Given the description of an element on the screen output the (x, y) to click on. 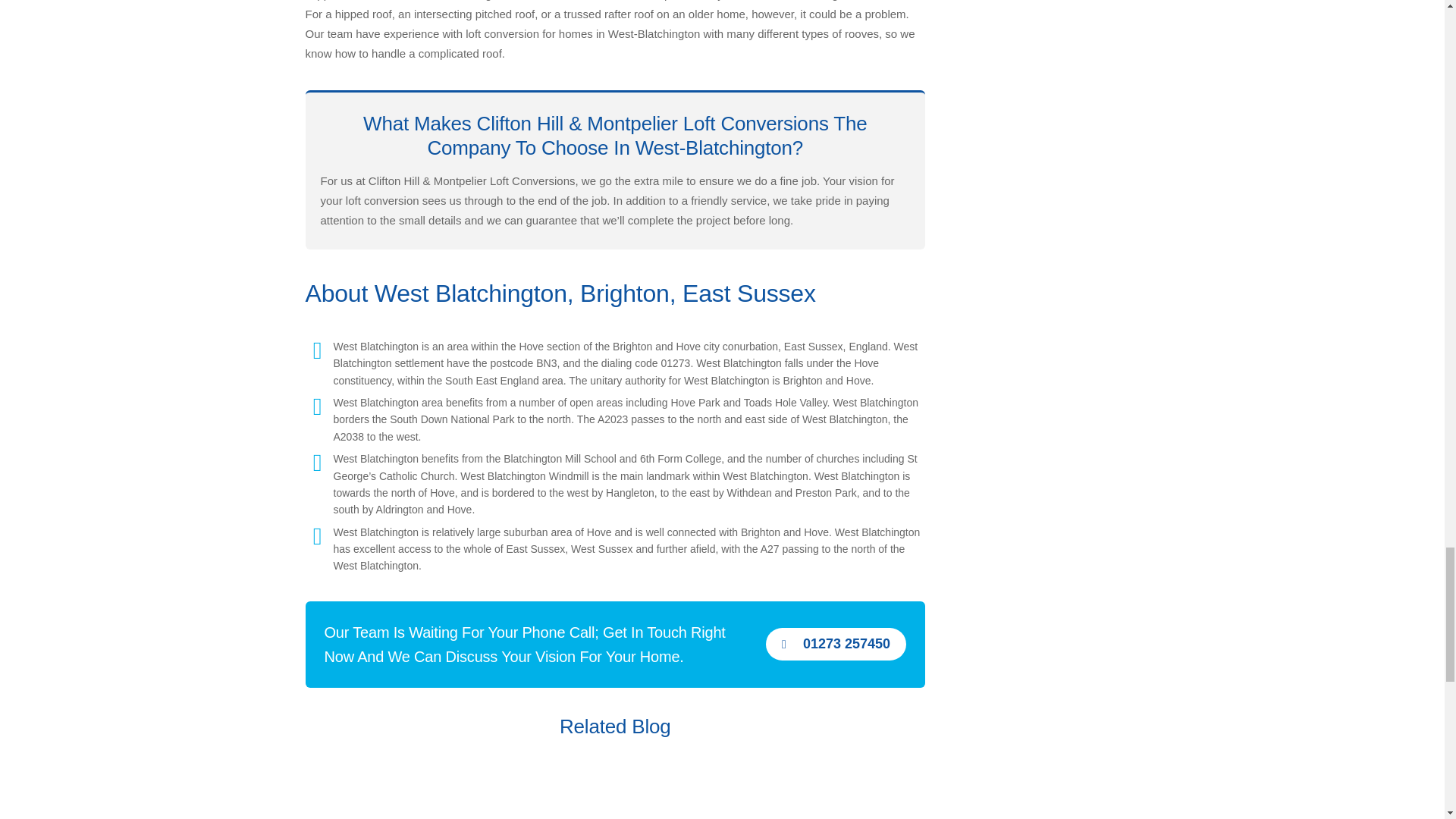
Top 8 Things to Know Before Starting a Loft Conversion (402, 791)
